Given the description of an element on the screen output the (x, y) to click on. 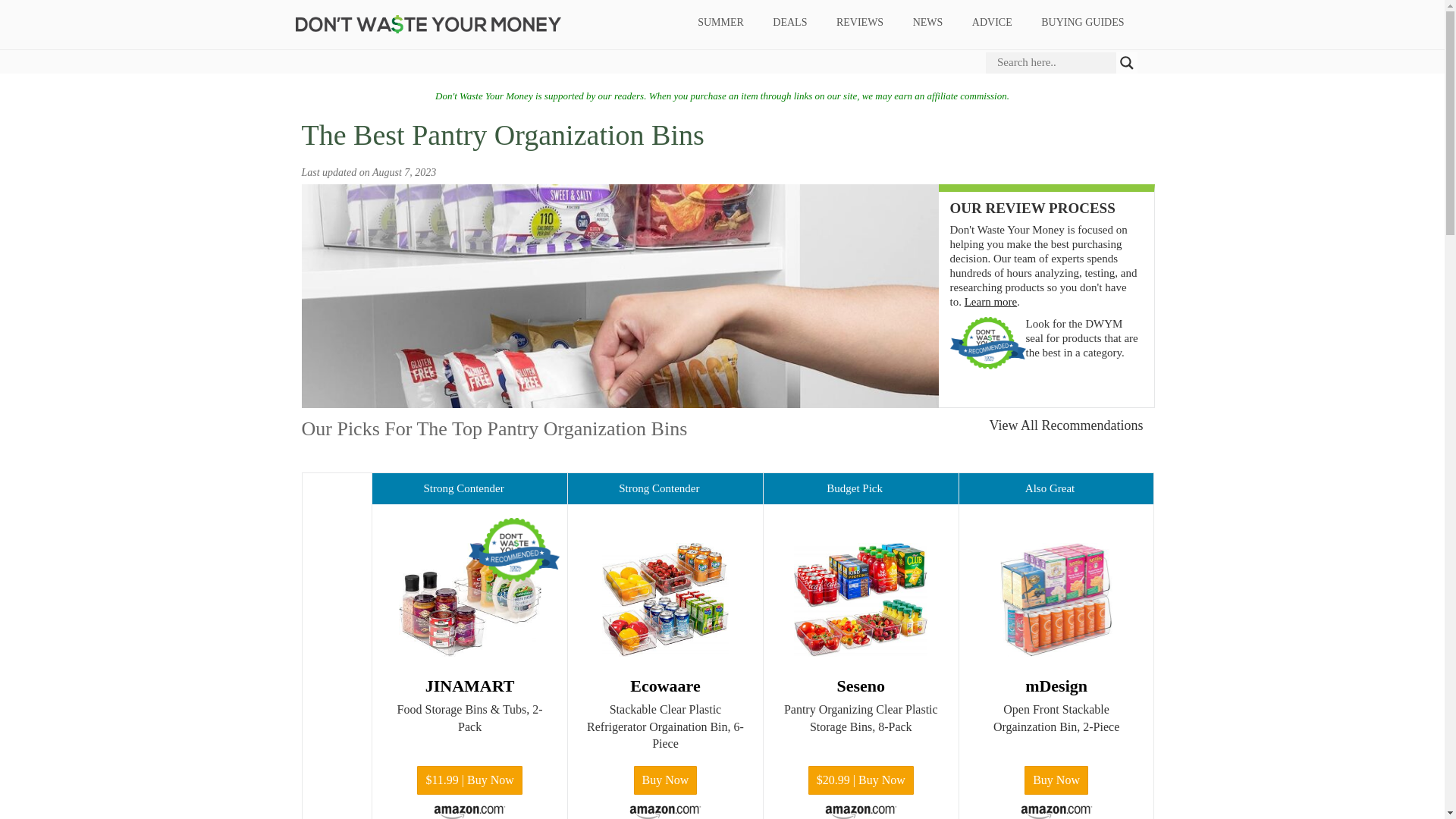
REVIEWS (859, 22)
NEWS (927, 22)
Learn more (990, 301)
BUYING GUIDES (1082, 22)
SUMMER (720, 22)
Buy Now (1056, 779)
ADVICE (991, 22)
Buy Now (665, 779)
DEALS (790, 22)
